Given the description of an element on the screen output the (x, y) to click on. 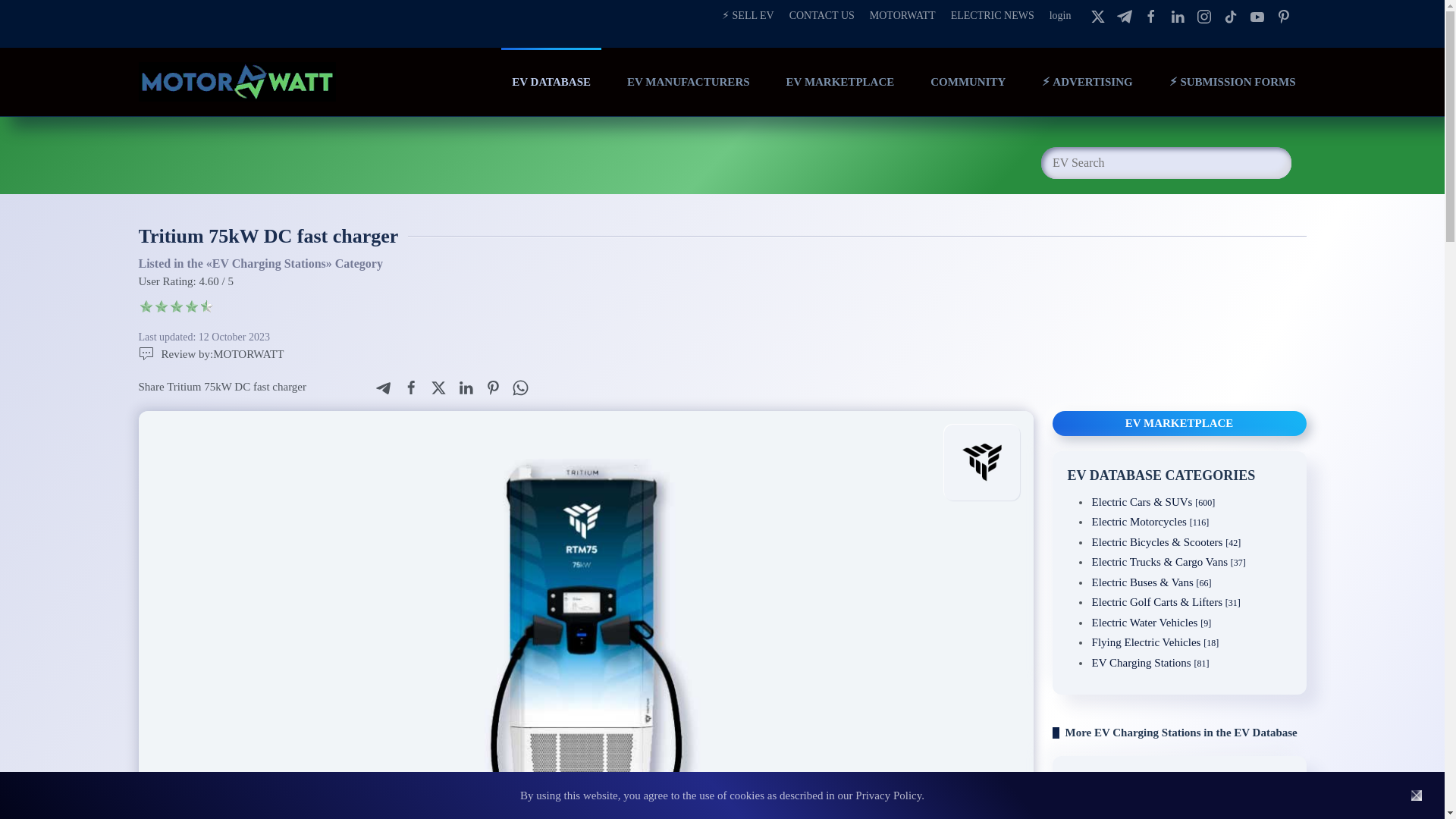
Twitter (438, 387)
Pinterest (1282, 15)
Pinterest (492, 387)
Facebook (1150, 15)
Telegram (383, 387)
Youtube (1257, 15)
MOTORWATT (902, 15)
Instagram (1230, 15)
CONTACT US (821, 15)
MOTORWATT (210, 354)
Instagram (1203, 15)
Telegram (1123, 15)
ELECTRIC NEWS (991, 15)
Facebook (411, 387)
Linkedin (1177, 15)
